Given the description of an element on the screen output the (x, y) to click on. 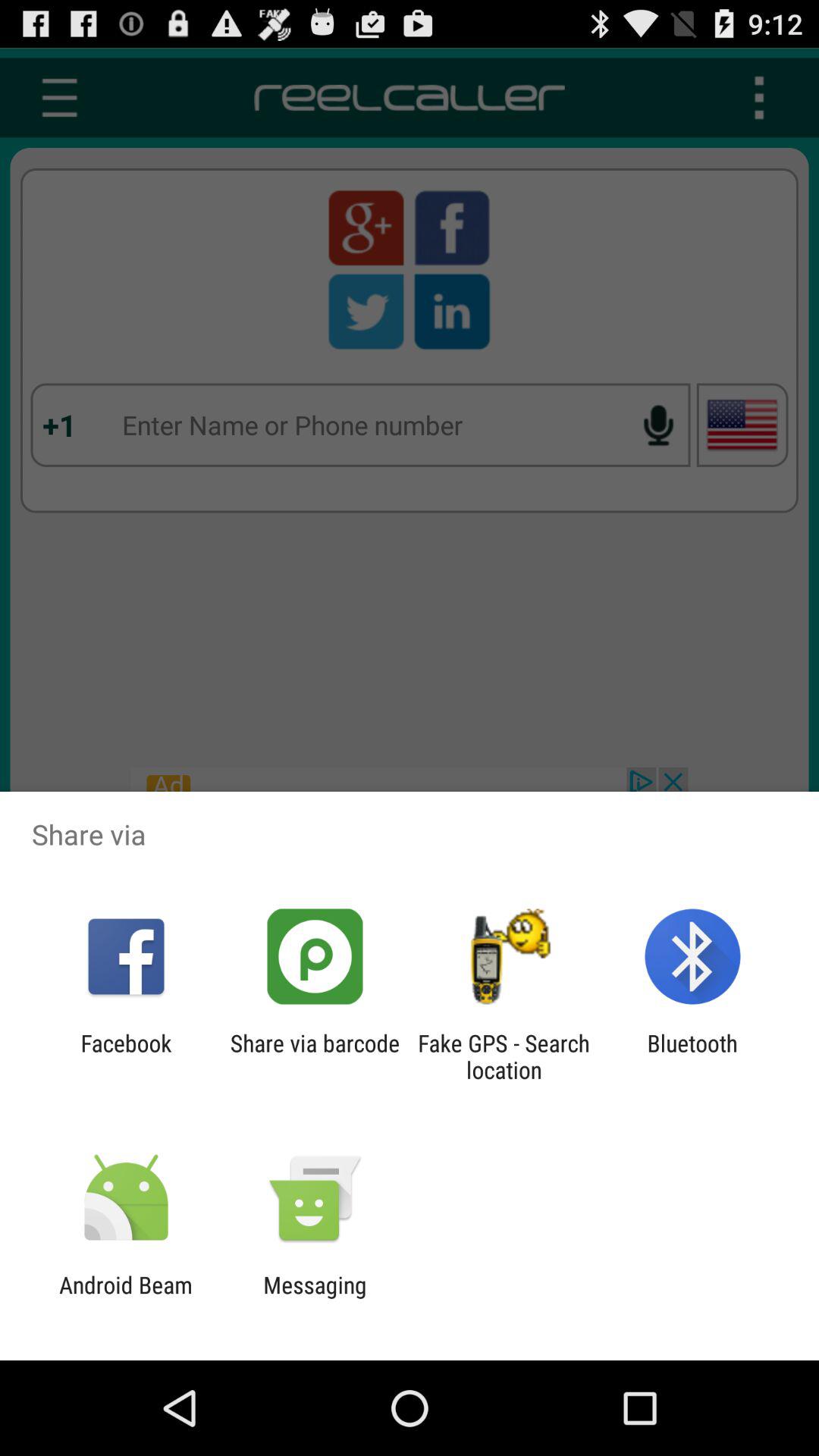
launch the bluetooth item (692, 1056)
